Given the description of an element on the screen output the (x, y) to click on. 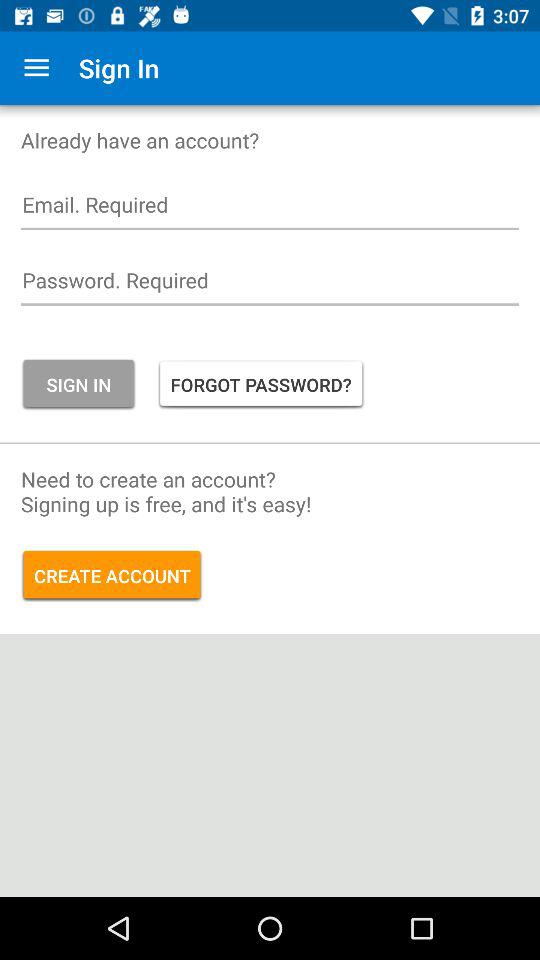
choose item to the right of the sign in icon (260, 384)
